Given the description of an element on the screen output the (x, y) to click on. 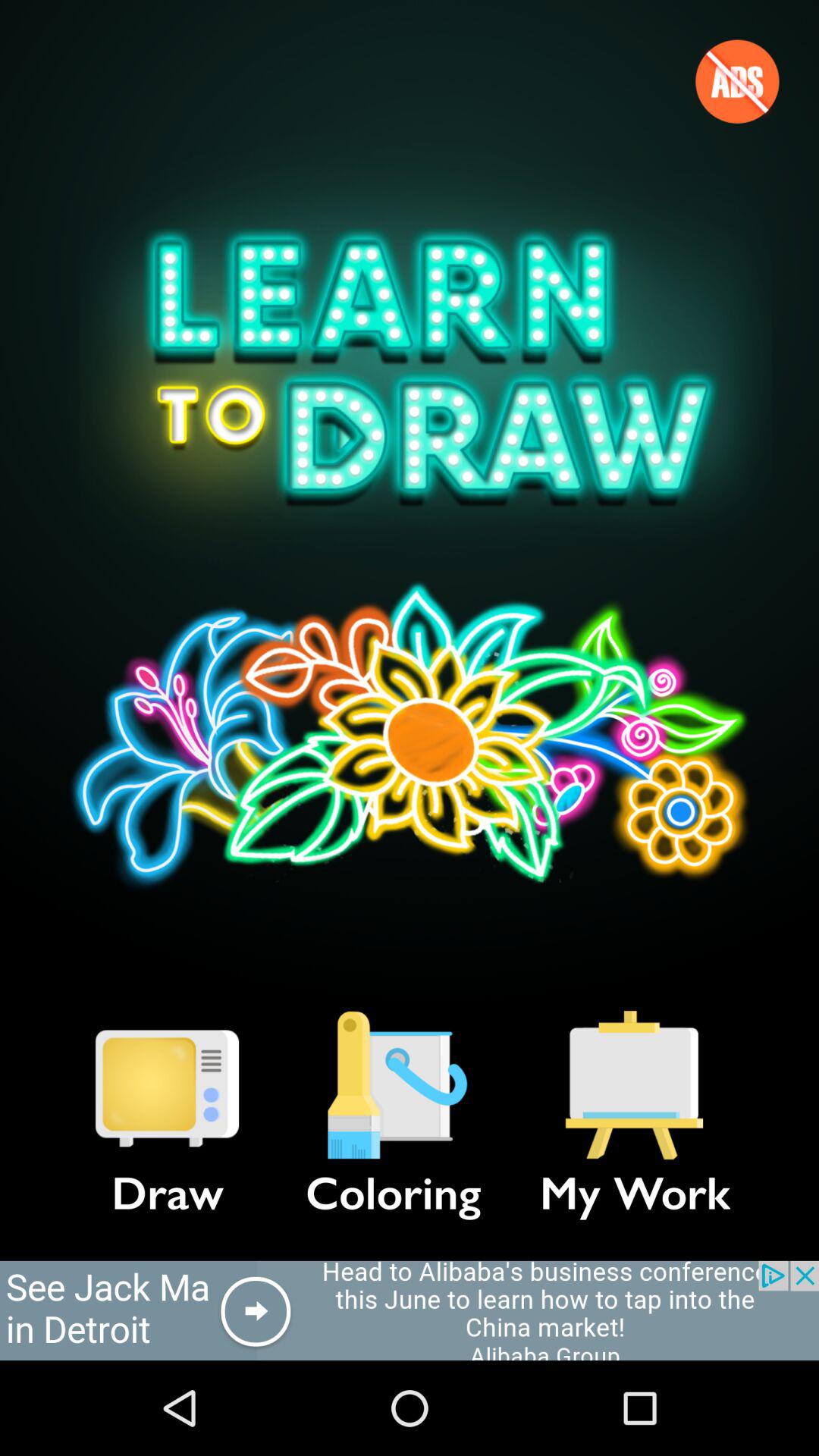
turn off the icon at the top right corner (737, 81)
